Given the description of an element on the screen output the (x, y) to click on. 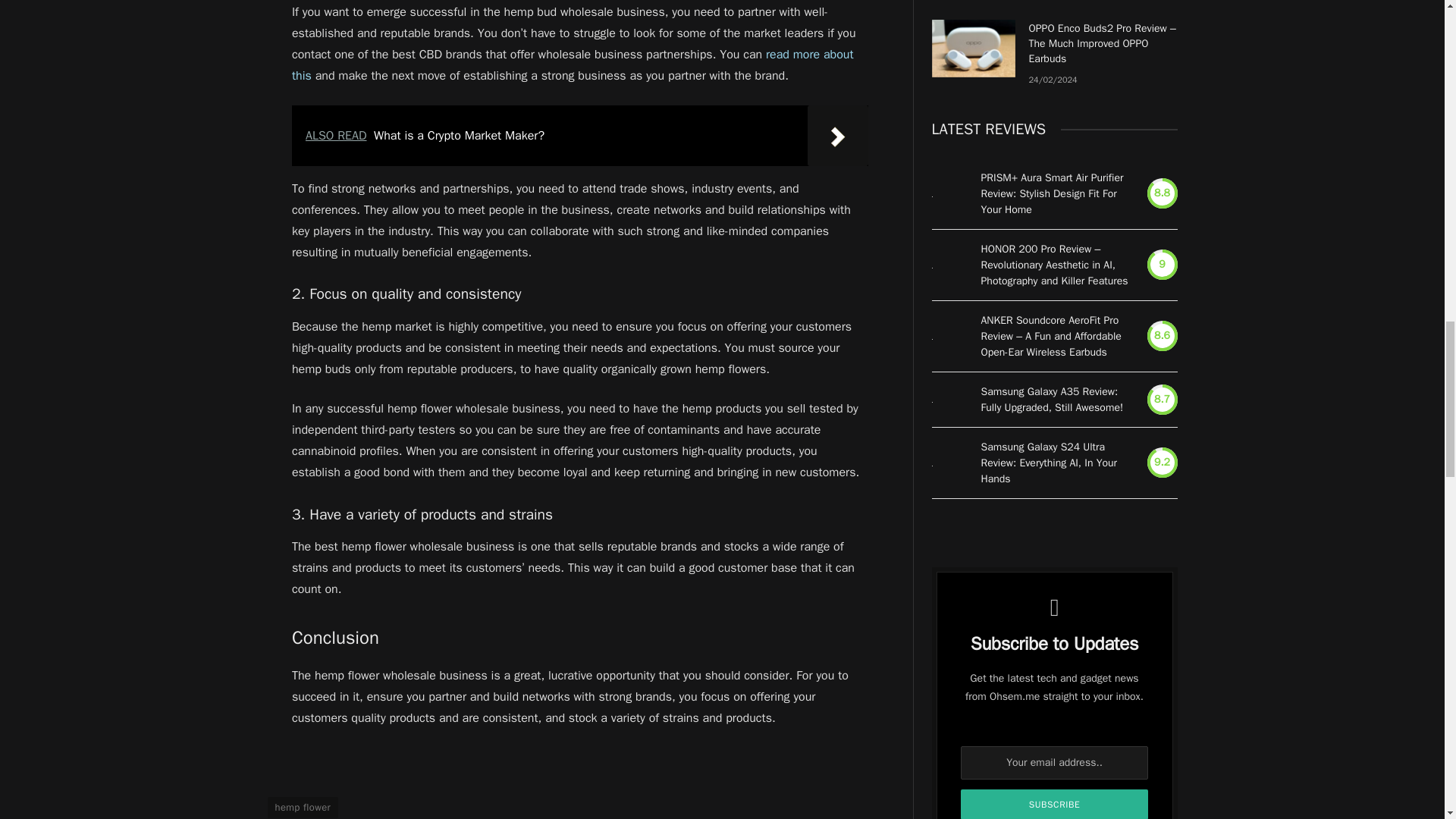
Subscribe (1053, 804)
